Given the description of an element on the screen output the (x, y) to click on. 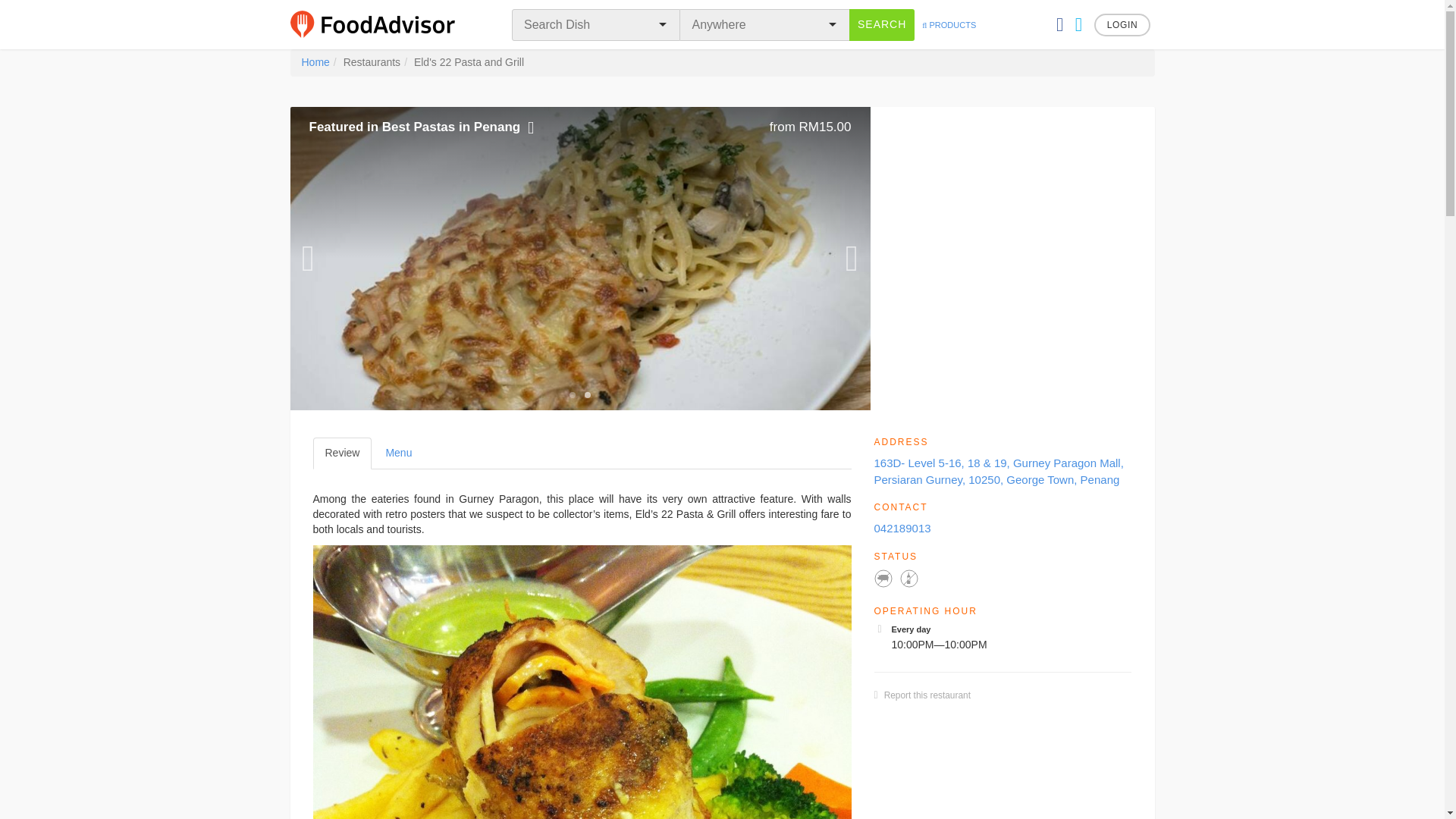
Home (315, 61)
LOGIN (397, 453)
Foodadvisor.my (1122, 24)
2 (381, 24)
PRODUCTS (587, 394)
042189013 (948, 24)
SEARCH (901, 527)
Review (881, 24)
Report this restaurant (342, 453)
1 (927, 695)
